Given the description of an element on the screen output the (x, y) to click on. 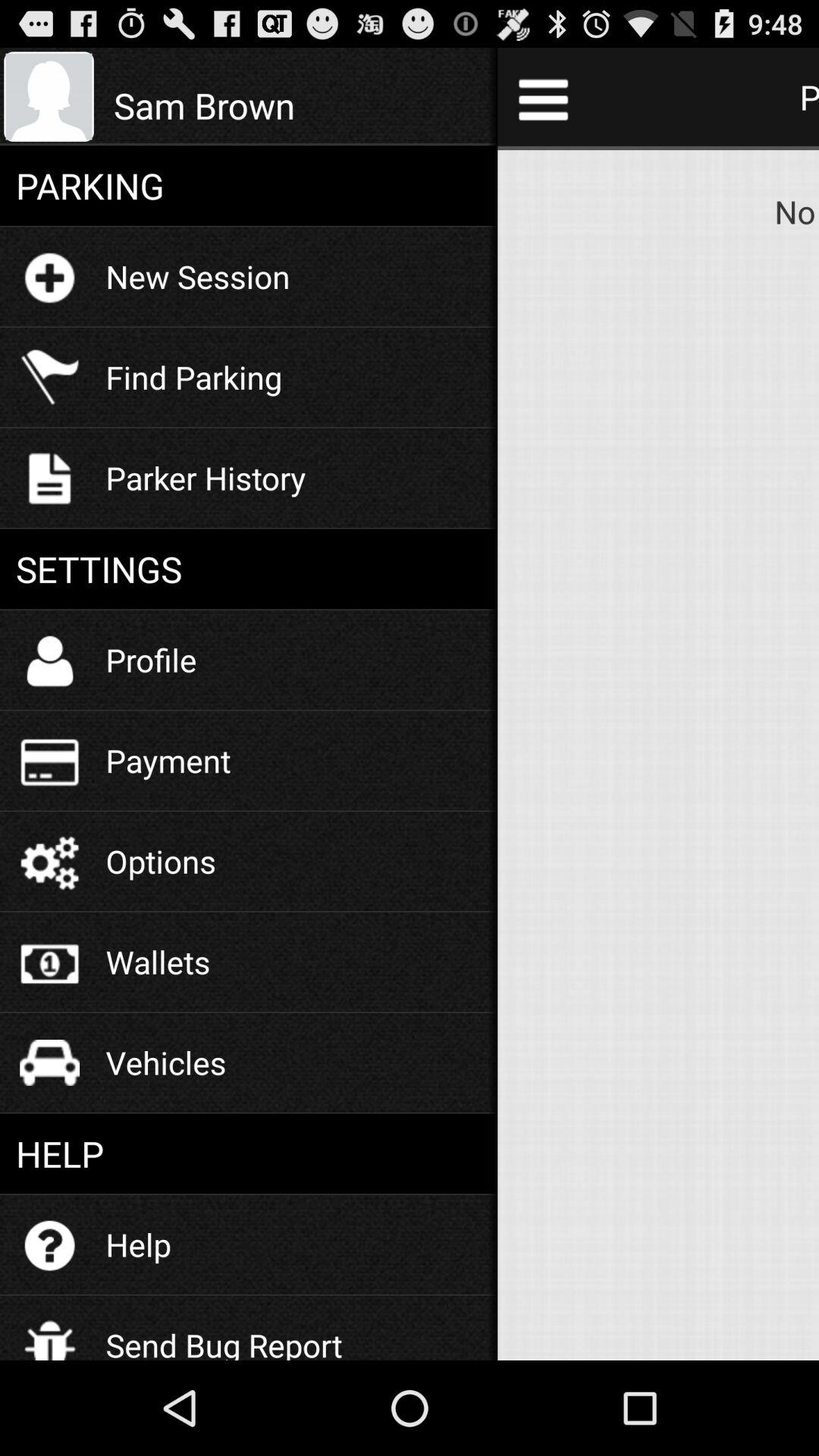
choose icon below the wallets icon (165, 1061)
